Given the description of an element on the screen output the (x, y) to click on. 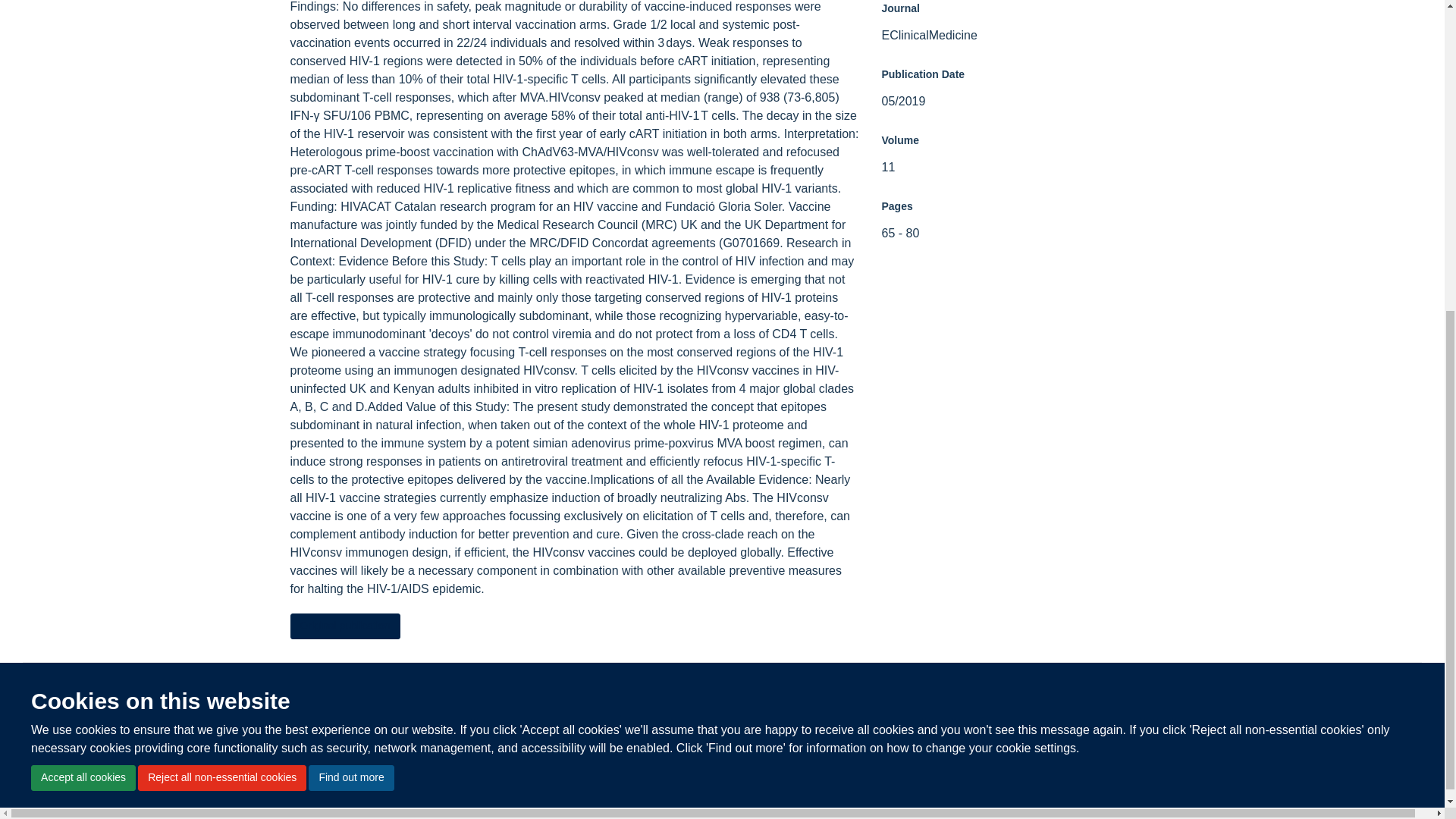
Reject all non-essential cookies (221, 272)
Accept all cookies (82, 272)
Find out more (350, 272)
